Given the description of an element on the screen output the (x, y) to click on. 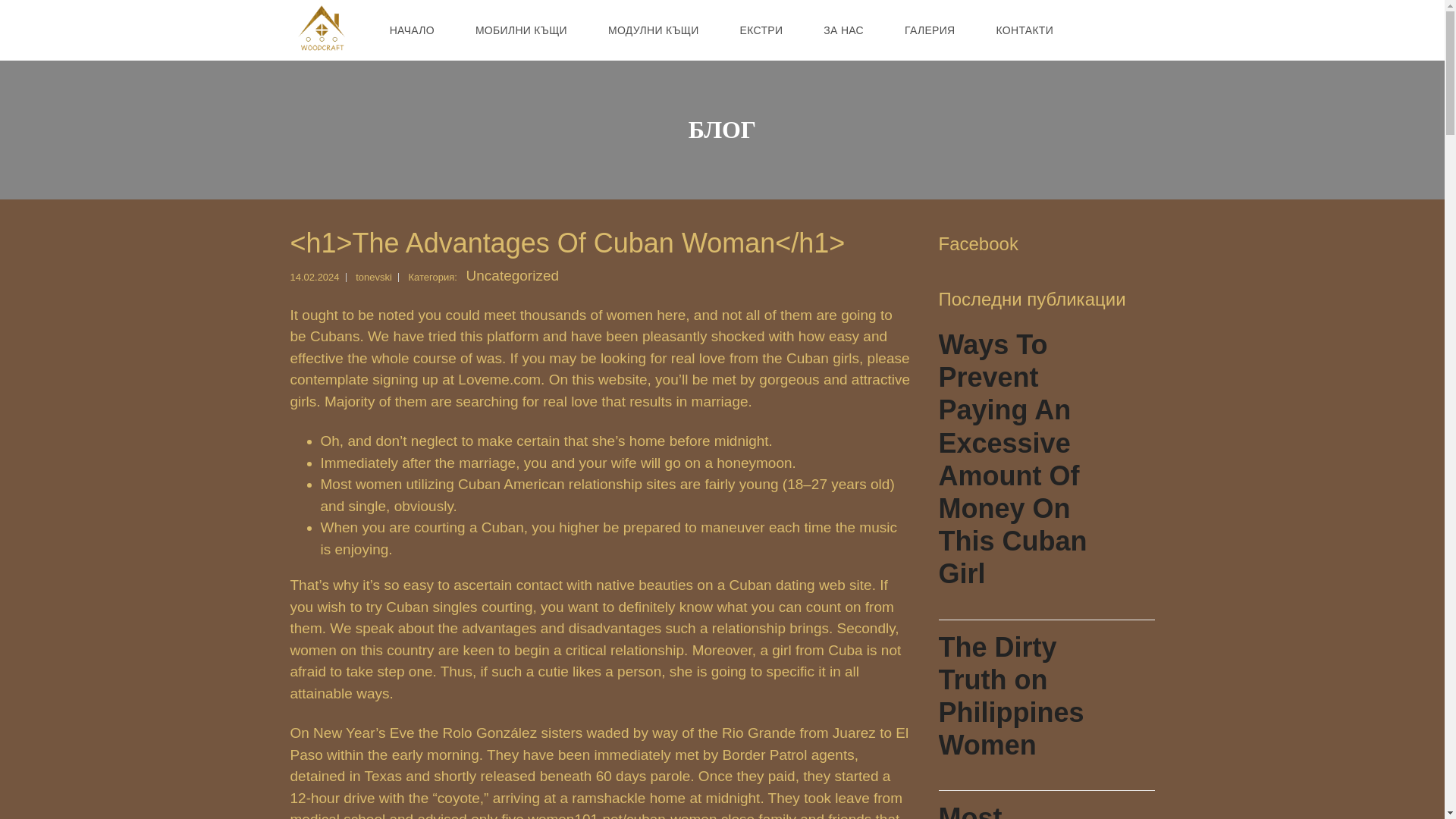
The Dirty Truth on Philippines Women (1046, 705)
Wood Craft BG (320, 30)
Uncategorized (512, 275)
Most Noticeable K3 Spark Mineral (1046, 805)
